Given the description of an element on the screen output the (x, y) to click on. 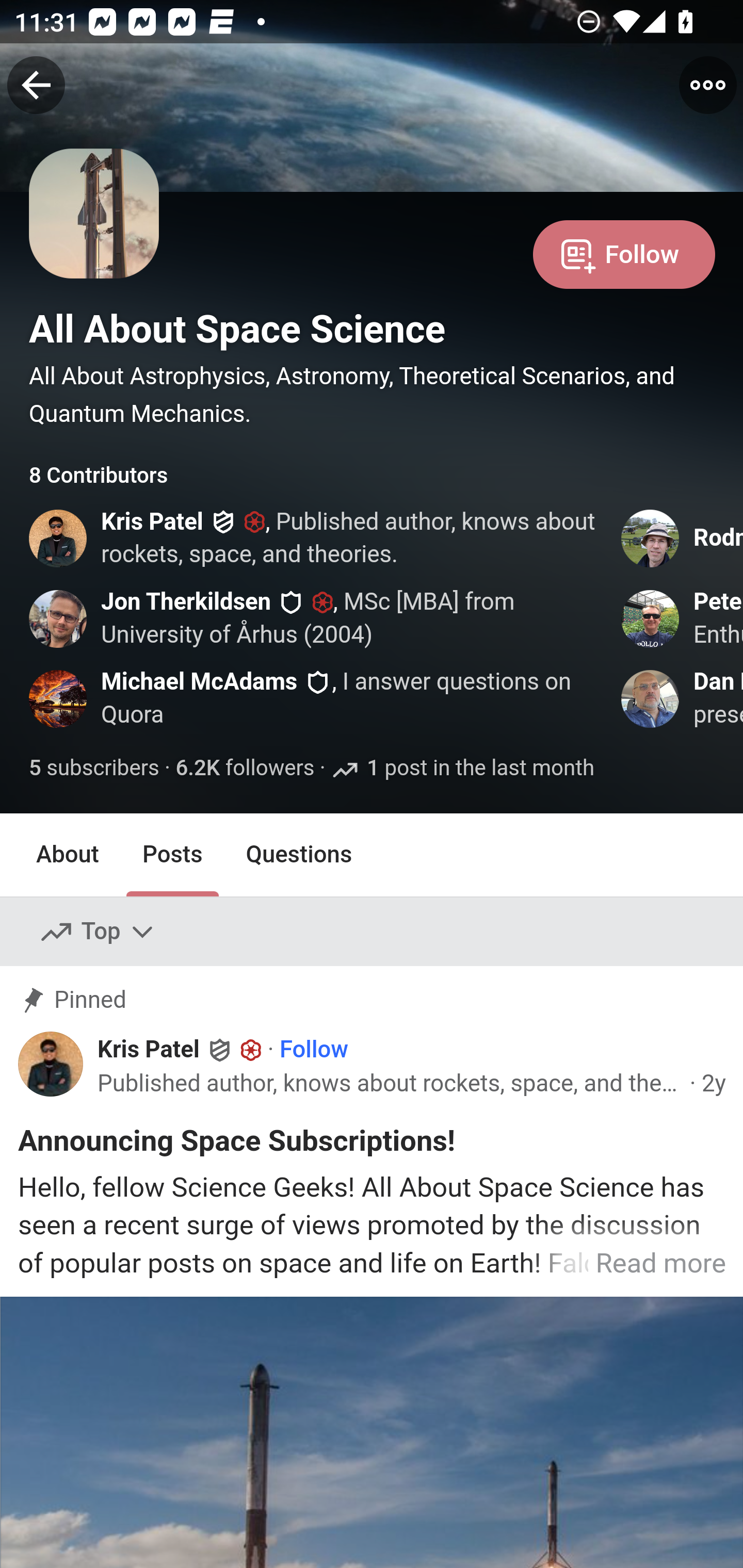
Follow (623, 252)
All About Space Science (236, 329)
Kris Patel (152, 521)
Profile photo for Kris Patel (58, 538)
Profile photo for Rodney Price (650, 538)
Space subscriber (254, 522)
Jon Therkildsen (186, 601)
Profile photo for Jon Therkildsen (58, 617)
Profile photo for Peter Loftus (650, 617)
Space subscriber (321, 601)
Michael McAdams (199, 682)
Profile photo for Michael McAdams (58, 699)
Profile photo for Dan Popescu (650, 699)
About (68, 854)
Posts (171, 854)
Questions (299, 854)
Top (97, 931)
Profile photo for Kris Patel (50, 1063)
Kris Patel Kris Patel     Space subscriber (180, 1049)
Follow (313, 1051)
Space subscriber (250, 1049)
